Given the description of an element on the screen output the (x, y) to click on. 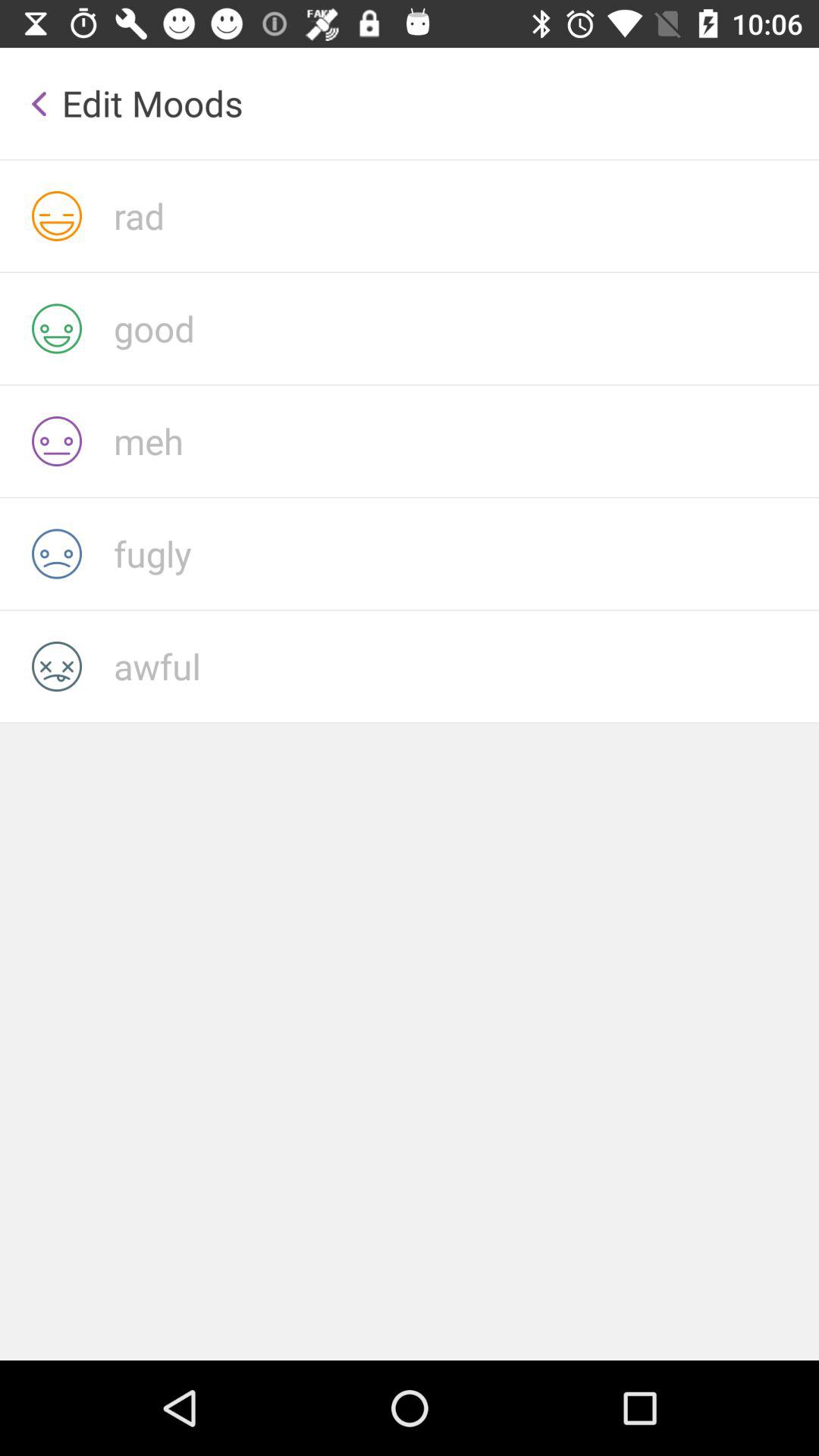
fugly mood among moods (466, 553)
